Given the description of an element on the screen output the (x, y) to click on. 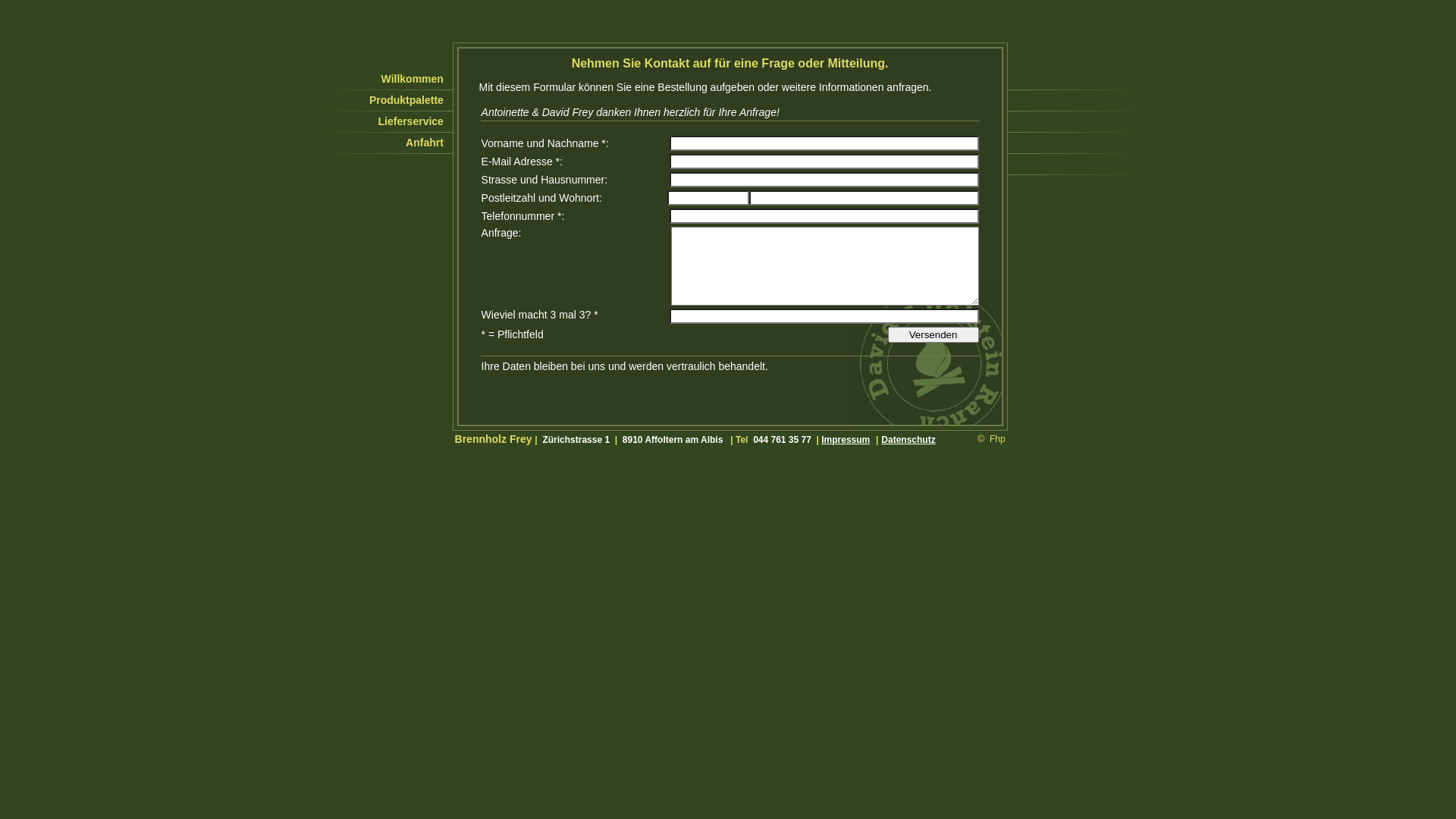
  Element type: text (1008, 121)
Anfahrt    Element type: text (385, 142)
Versenden Element type: text (933, 334)
  Element type: text (1008, 78)
  Element type: text (1008, 163)
Willkommen    Element type: text (385, 79)
Datenschutz Element type: text (908, 439)
Lieferservice    Element type: text (385, 121)
  Element type: text (1008, 100)
Produktpalette    Element type: text (385, 100)
Fhp Element type: text (997, 438)
Impressum Element type: text (845, 439)
  Element type: text (1008, 142)
